Given the description of an element on the screen output the (x, y) to click on. 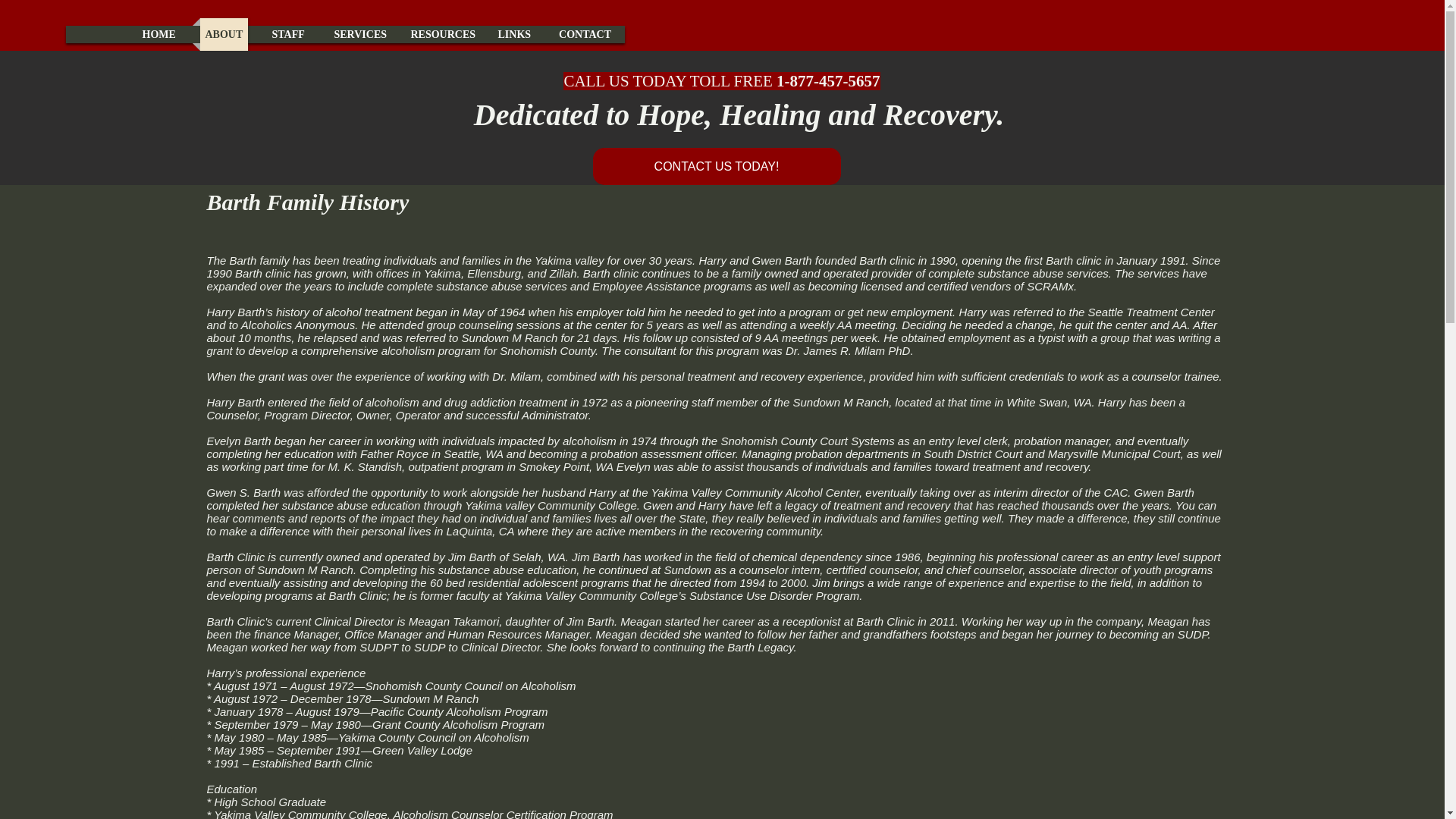
SERVICES (357, 34)
HOME (158, 34)
CONTACT (585, 34)
RESOURCES (438, 34)
STAFF (288, 34)
LINKS (512, 34)
CONTACT US TODAY! (716, 166)
ABOUT (224, 34)
